Given the description of an element on the screen output the (x, y) to click on. 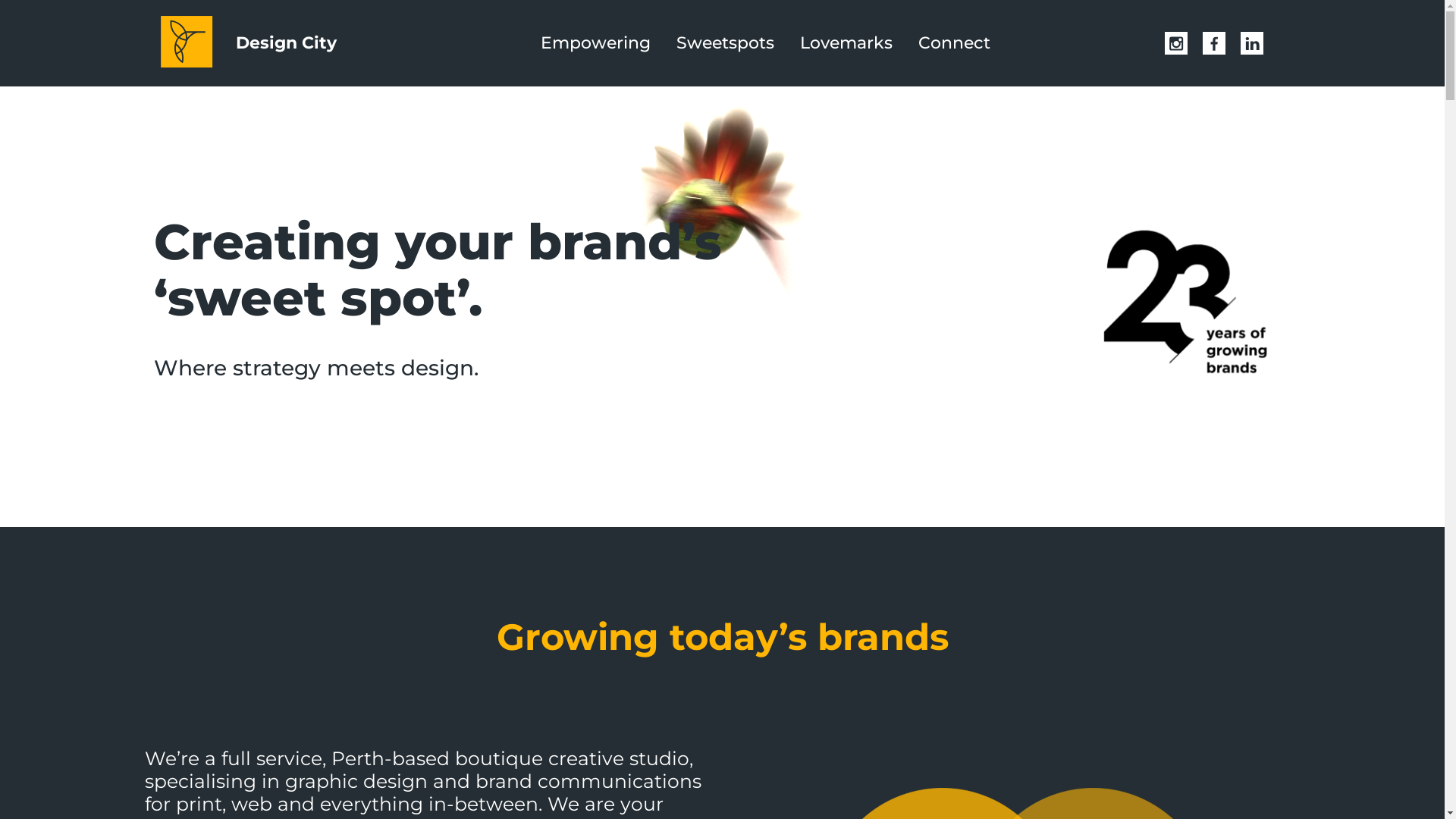
Connect Element type: text (954, 42)
Empowering Element type: text (595, 42)
Lovemarks Element type: text (846, 42)
Sweetspots Element type: text (724, 42)
